Given the description of an element on the screen output the (x, y) to click on. 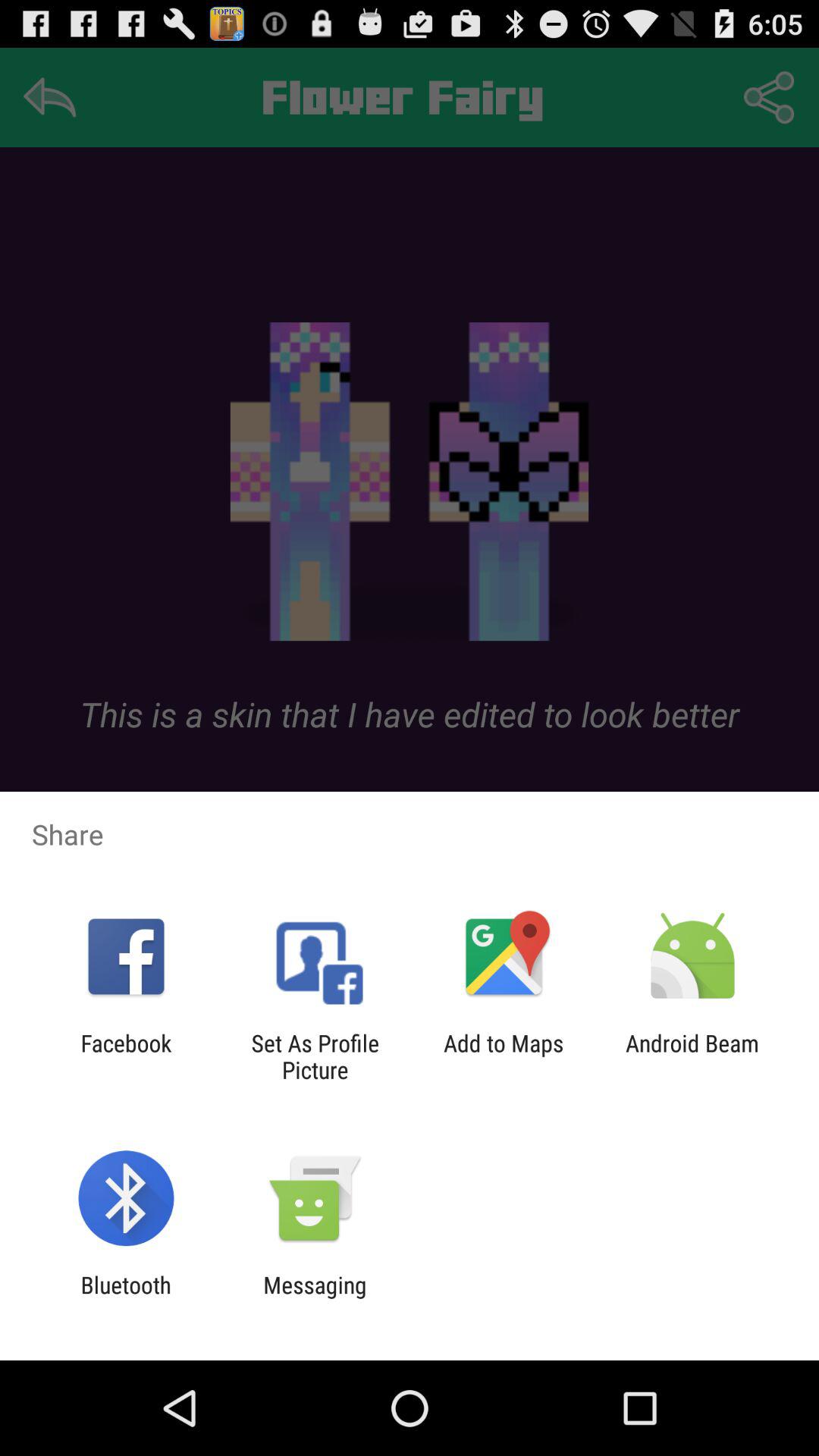
turn on item next to android beam (503, 1056)
